Given the description of an element on the screen output the (x, y) to click on. 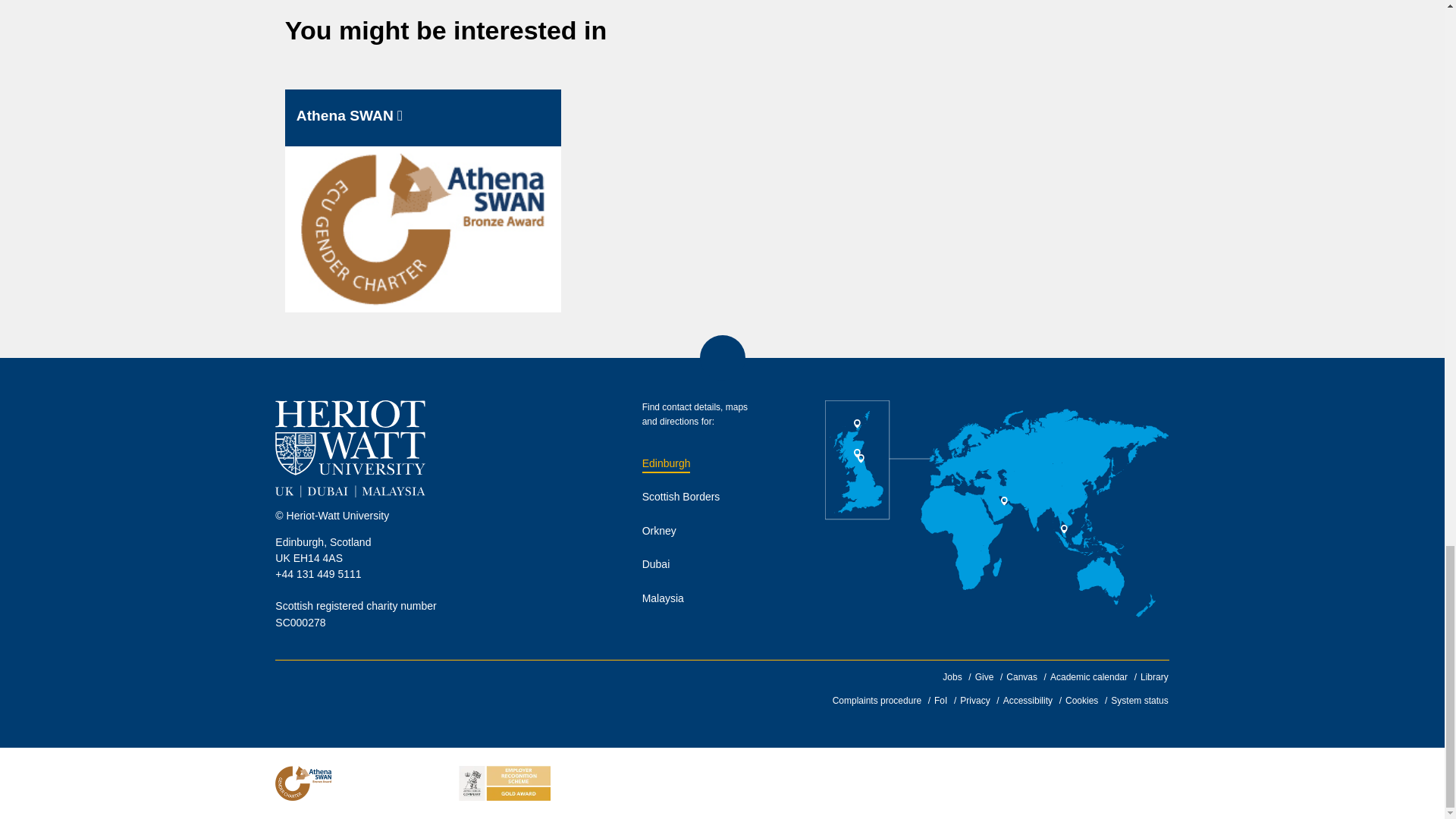
LinkedIn (290, 690)
TikTok (505, 690)
Instagram (419, 690)
Twitter (377, 690)
YouTube (462, 690)
Facebook (333, 690)
